Given the description of an element on the screen output the (x, y) to click on. 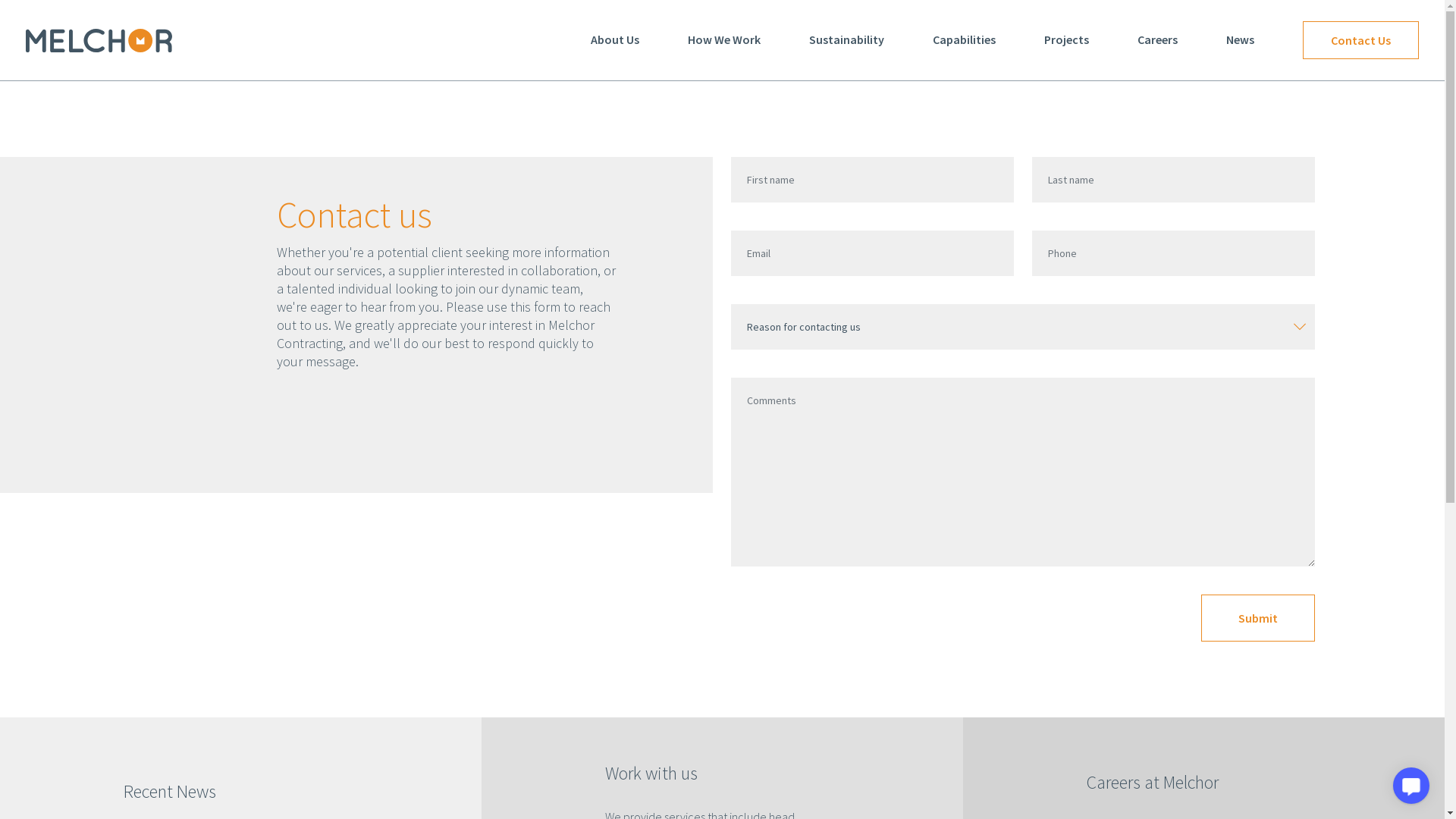
Submit Element type: text (1257, 617)
Careers Element type: text (1157, 40)
Contact Us Element type: text (1360, 40)
Capabilities Element type: text (963, 40)
News Element type: text (1240, 40)
How We Work Element type: text (723, 40)
Sustainability Element type: text (846, 40)
Projects Element type: text (1066, 40)
About Us Element type: text (614, 40)
